Given the description of an element on the screen output the (x, y) to click on. 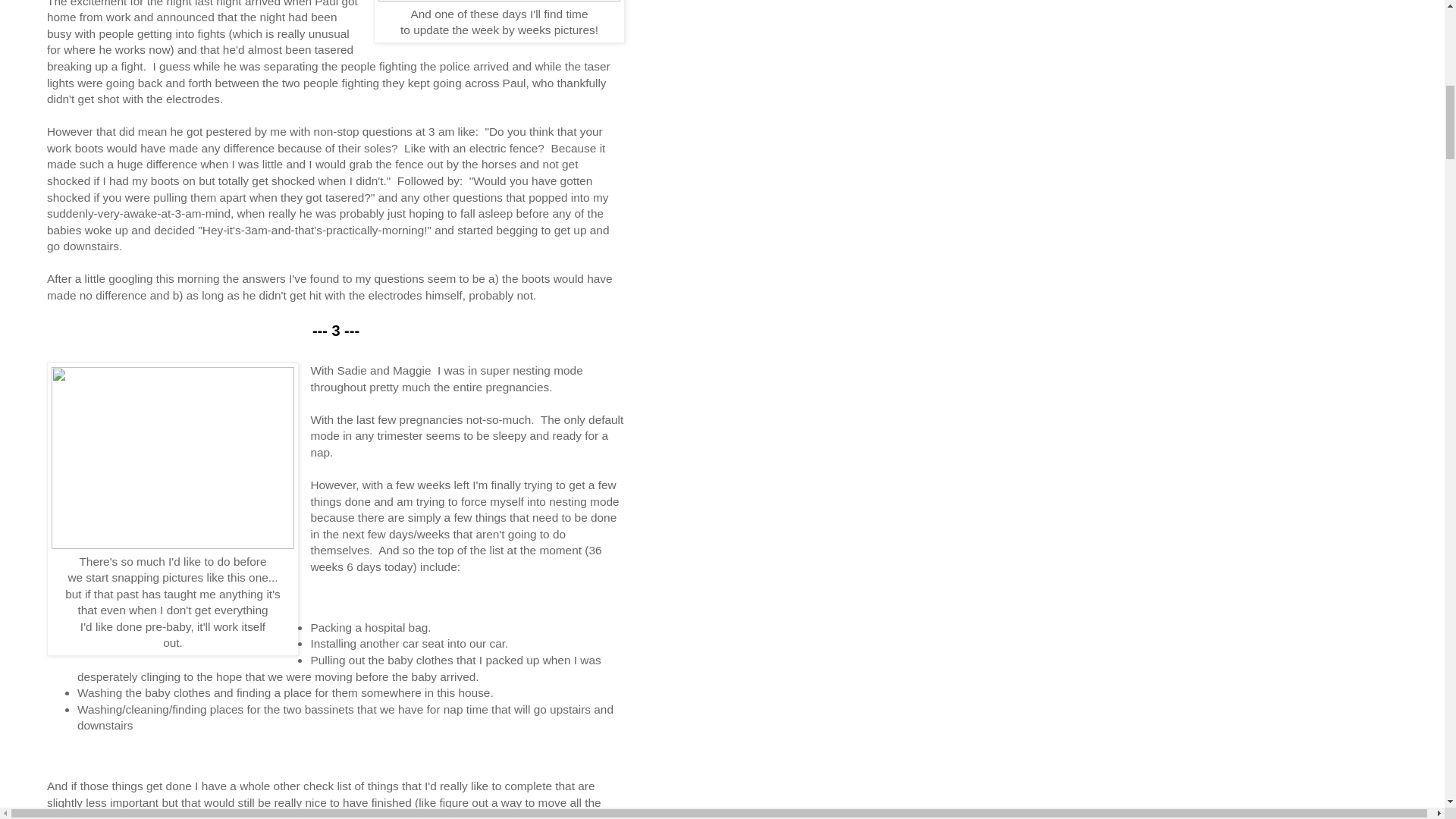
--- 3 --- (336, 330)
